Given the description of an element on the screen output the (x, y) to click on. 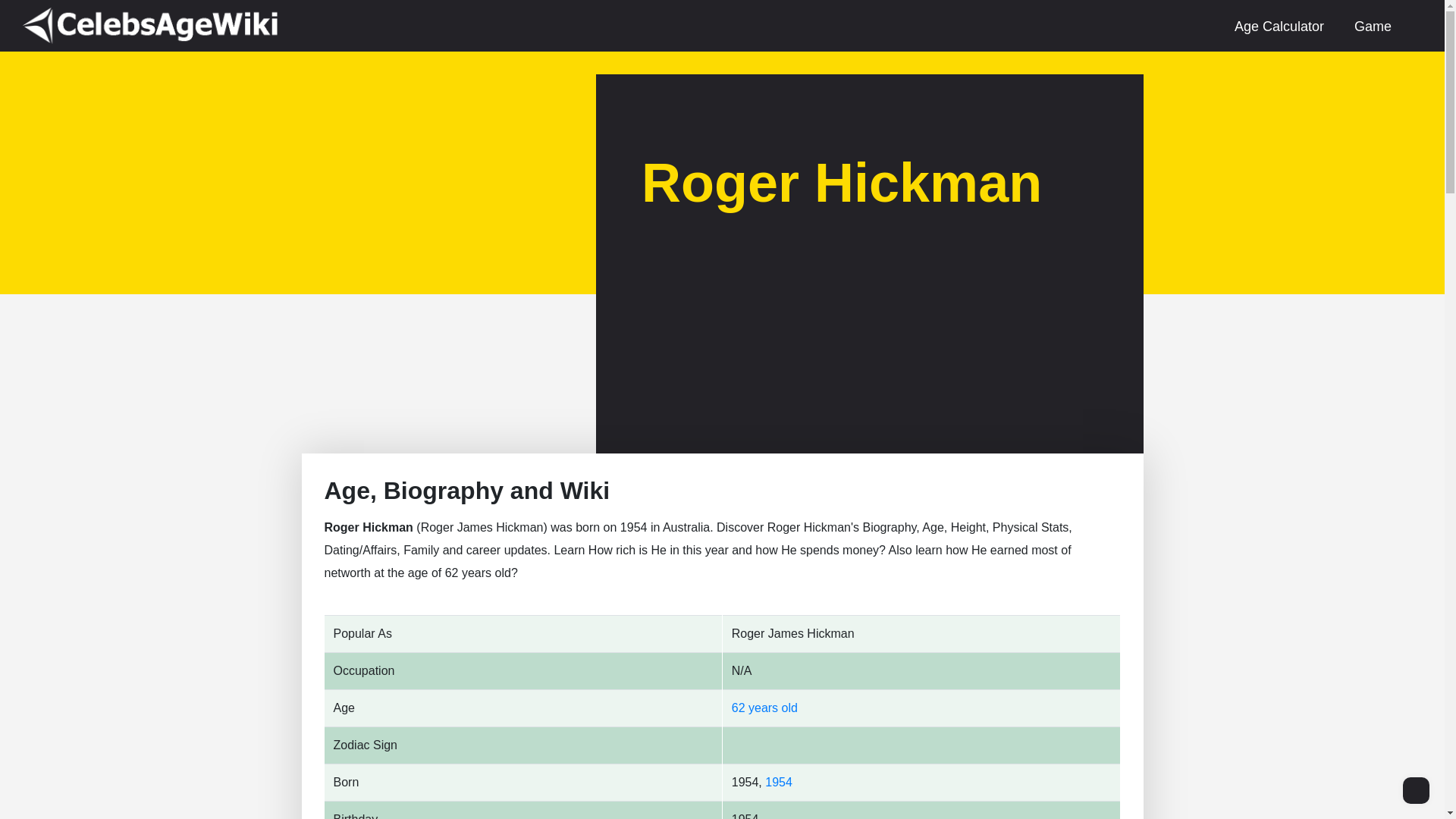
1954 (778, 781)
62 years old (764, 707)
Game (1372, 26)
Age Calculator (1279, 26)
